Given the description of an element on the screen output the (x, y) to click on. 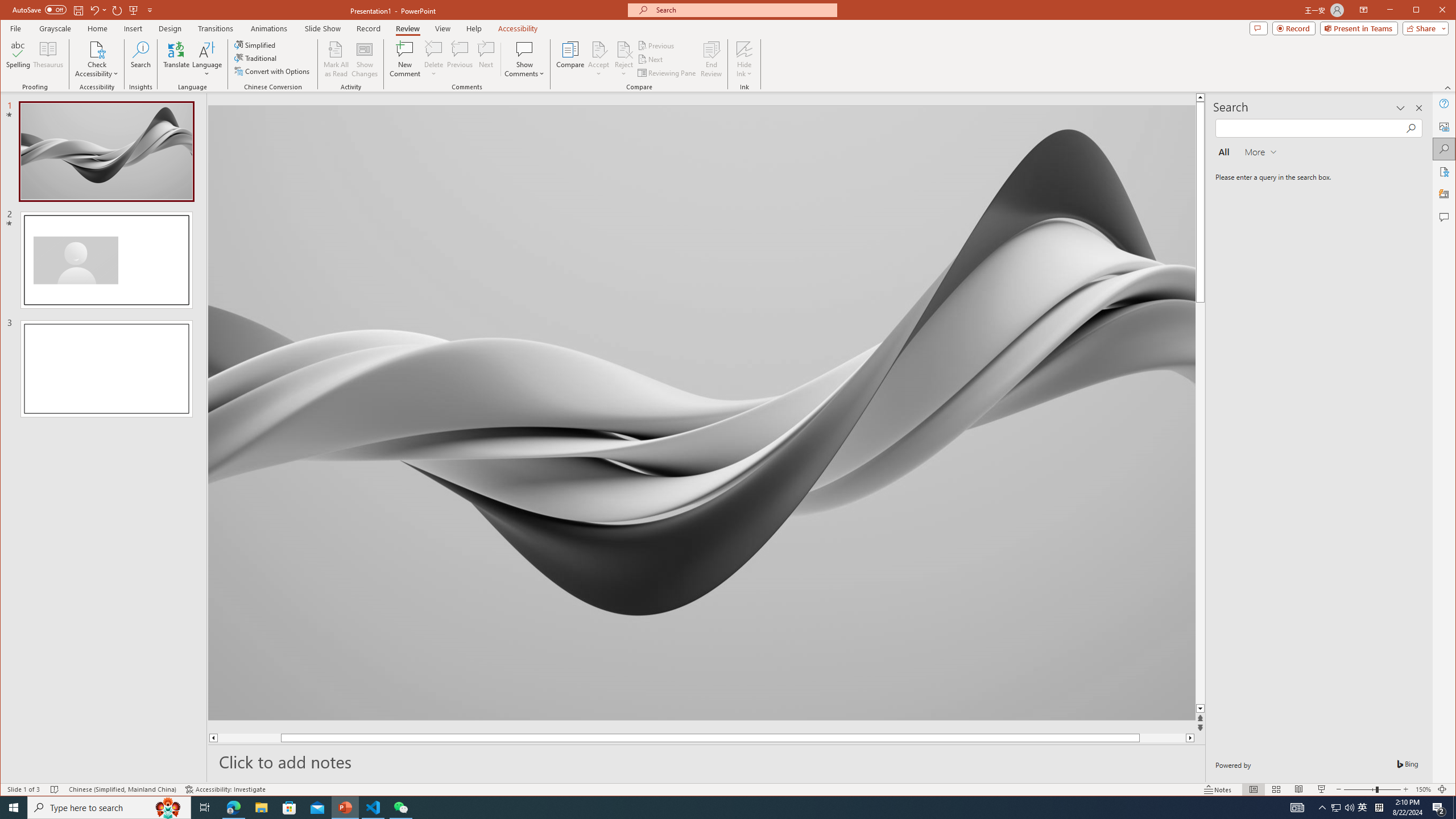
Compare (569, 59)
Show Changes (365, 59)
